Given the description of an element on the screen output the (x, y) to click on. 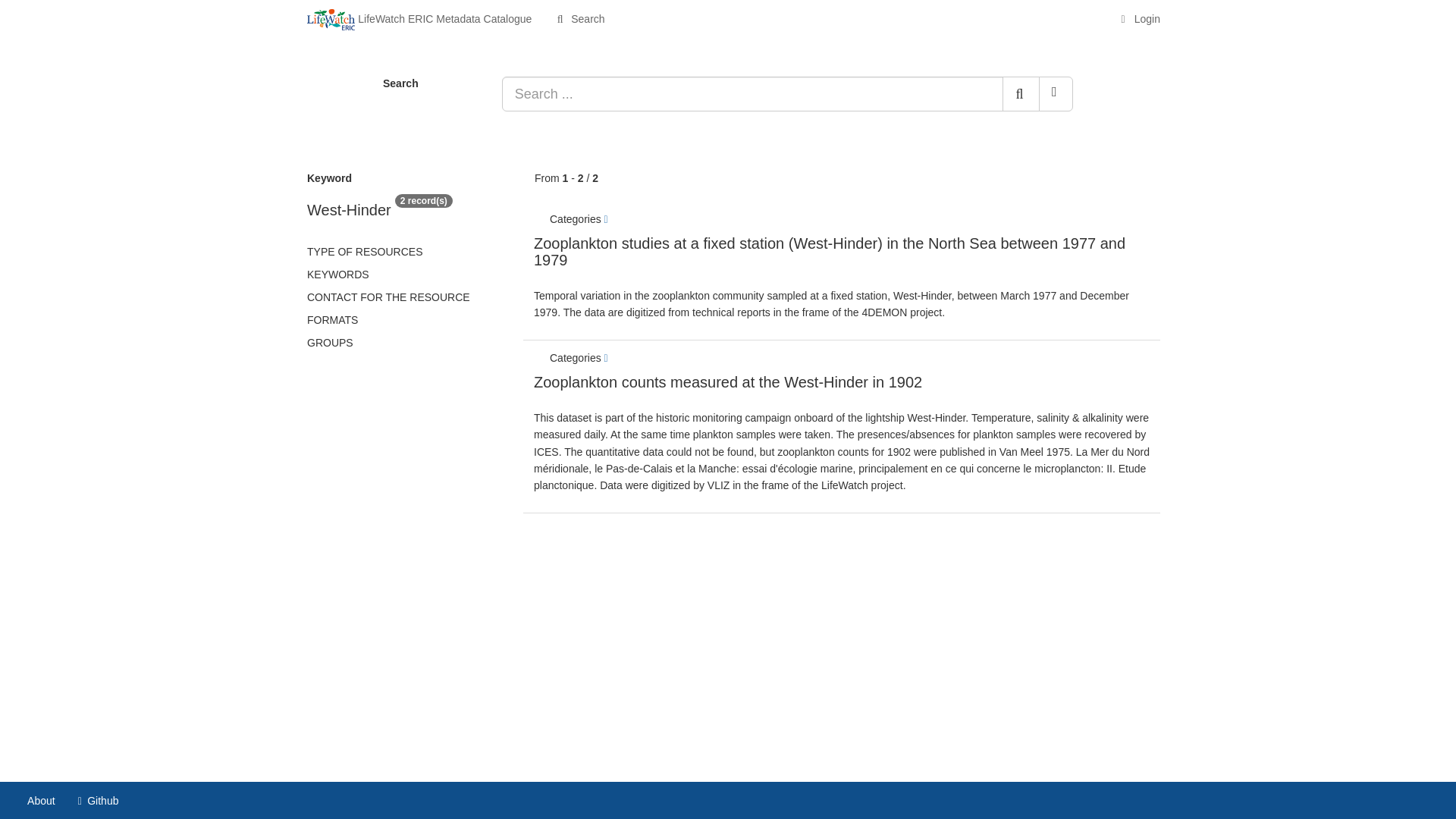
  Login (1139, 18)
Search (579, 18)
Zooplankton counts measured at the West-Hinder in 1902 (727, 381)
Reset (1056, 93)
  Search (579, 18)
LifeWatch ERIC Metadata Catalogue (419, 18)
Login (1139, 18)
Search (1021, 93)
